Given the description of an element on the screen output the (x, y) to click on. 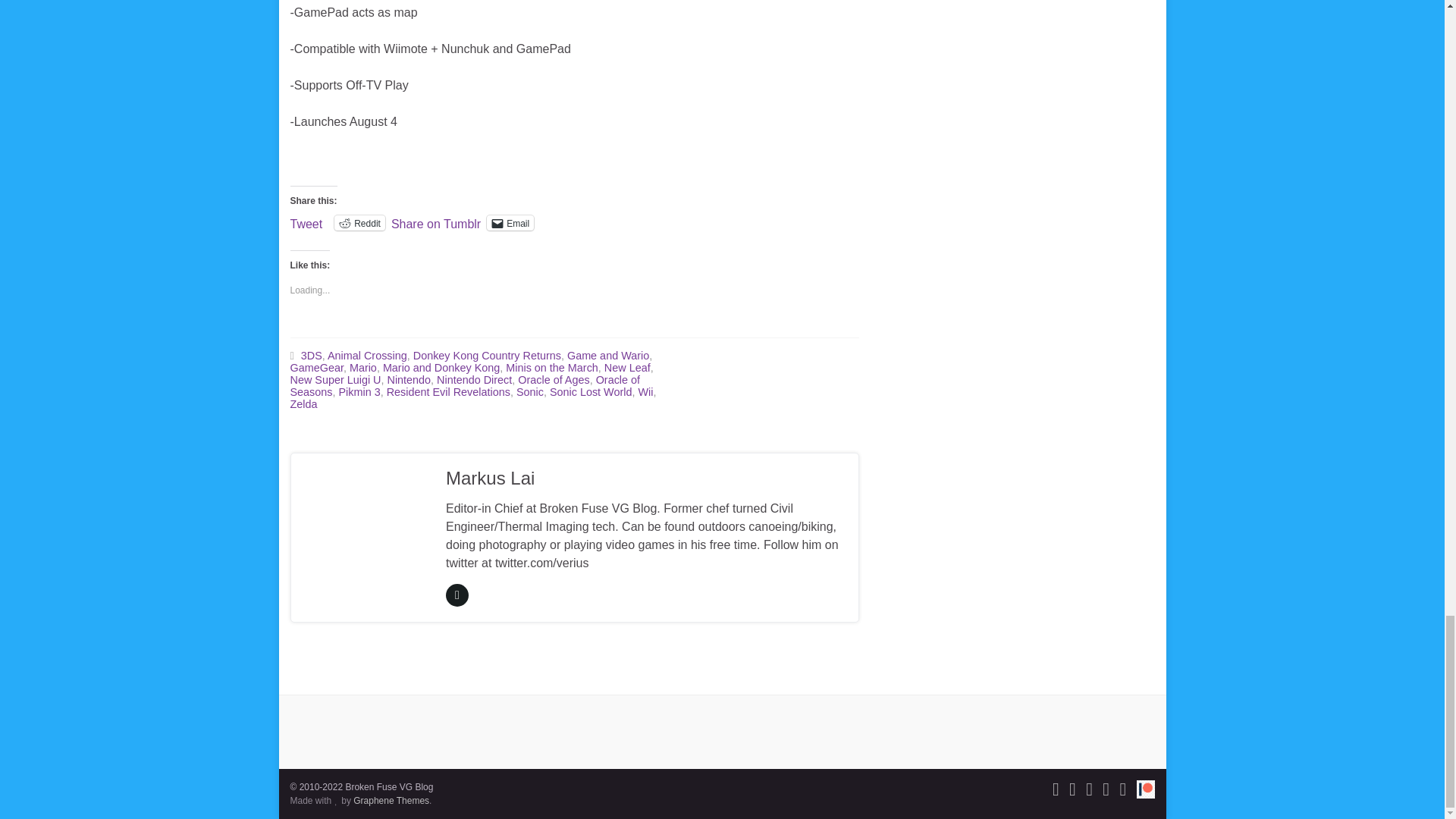
Share on Tumblr (435, 222)
Click to share on Reddit (359, 222)
Click to email a link to a friend (510, 222)
